Given the description of an element on the screen output the (x, y) to click on. 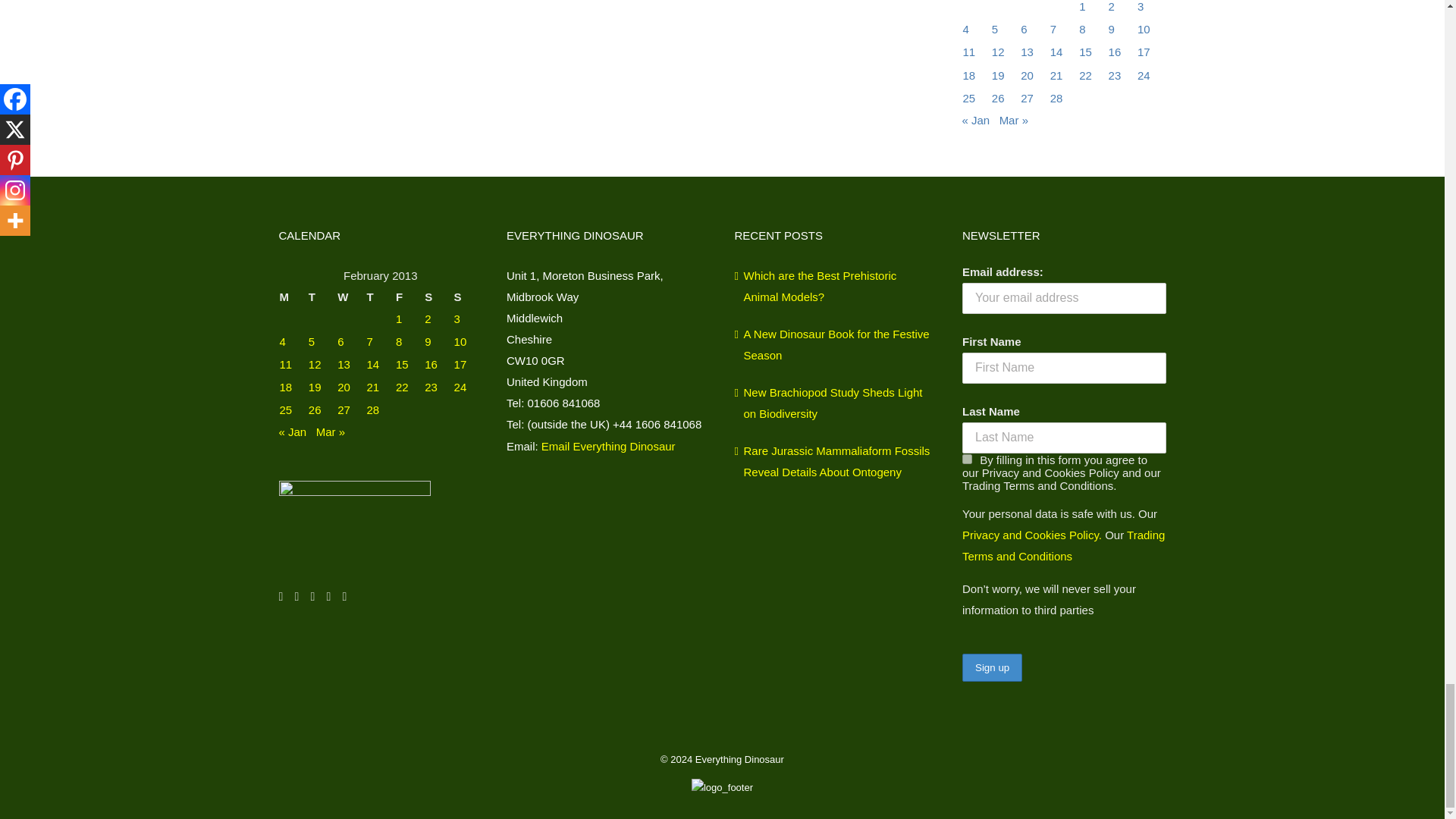
subscribe (967, 459)
Sign up (992, 667)
